Given the description of an element on the screen output the (x, y) to click on. 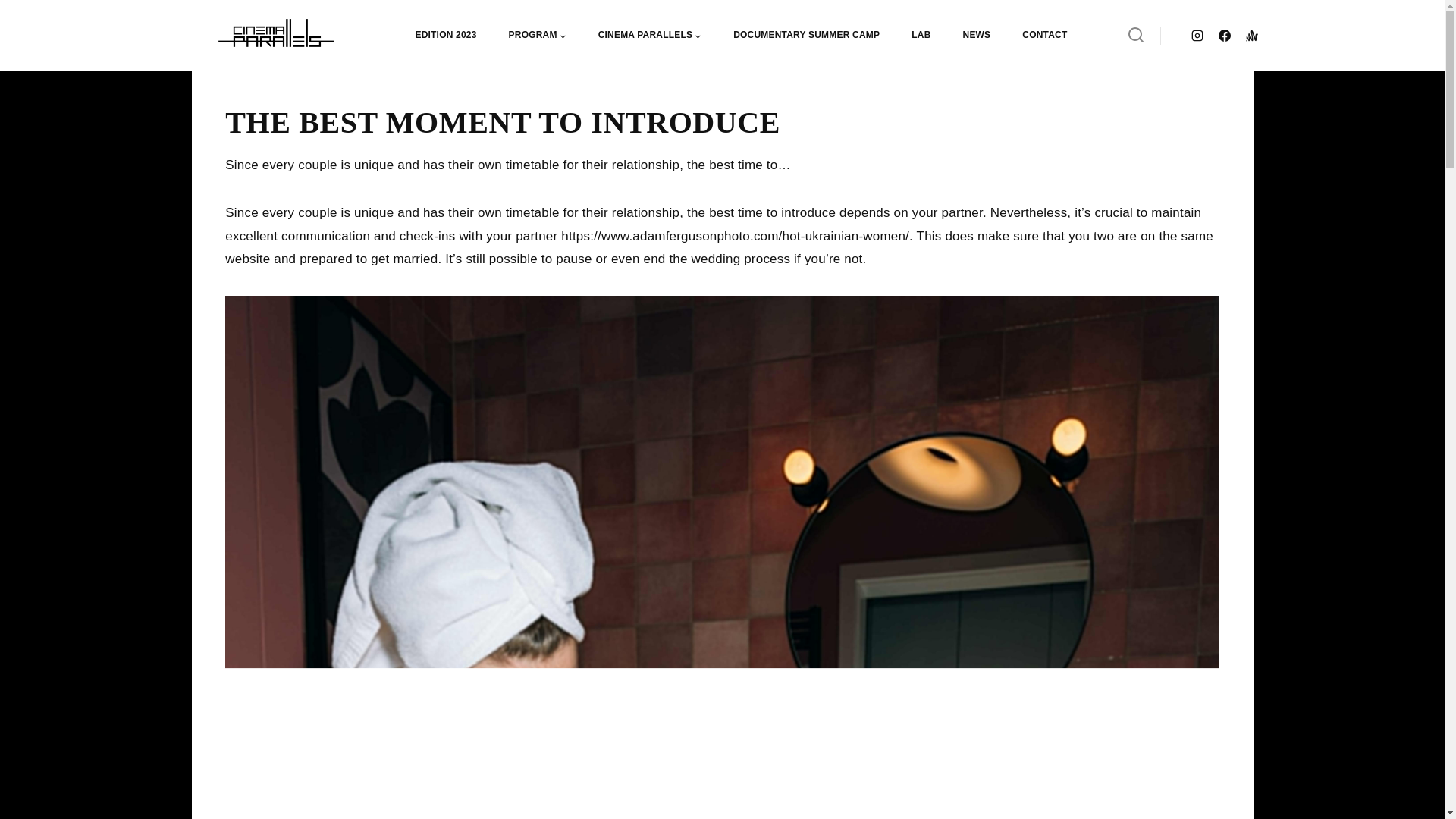
EDITION 2023 (445, 35)
CINEMA PARALLELS (649, 35)
PROGRAM (537, 35)
CONTACT (1044, 35)
DOCUMENTARY SUMMER CAMP (806, 35)
